Given the description of an element on the screen output the (x, y) to click on. 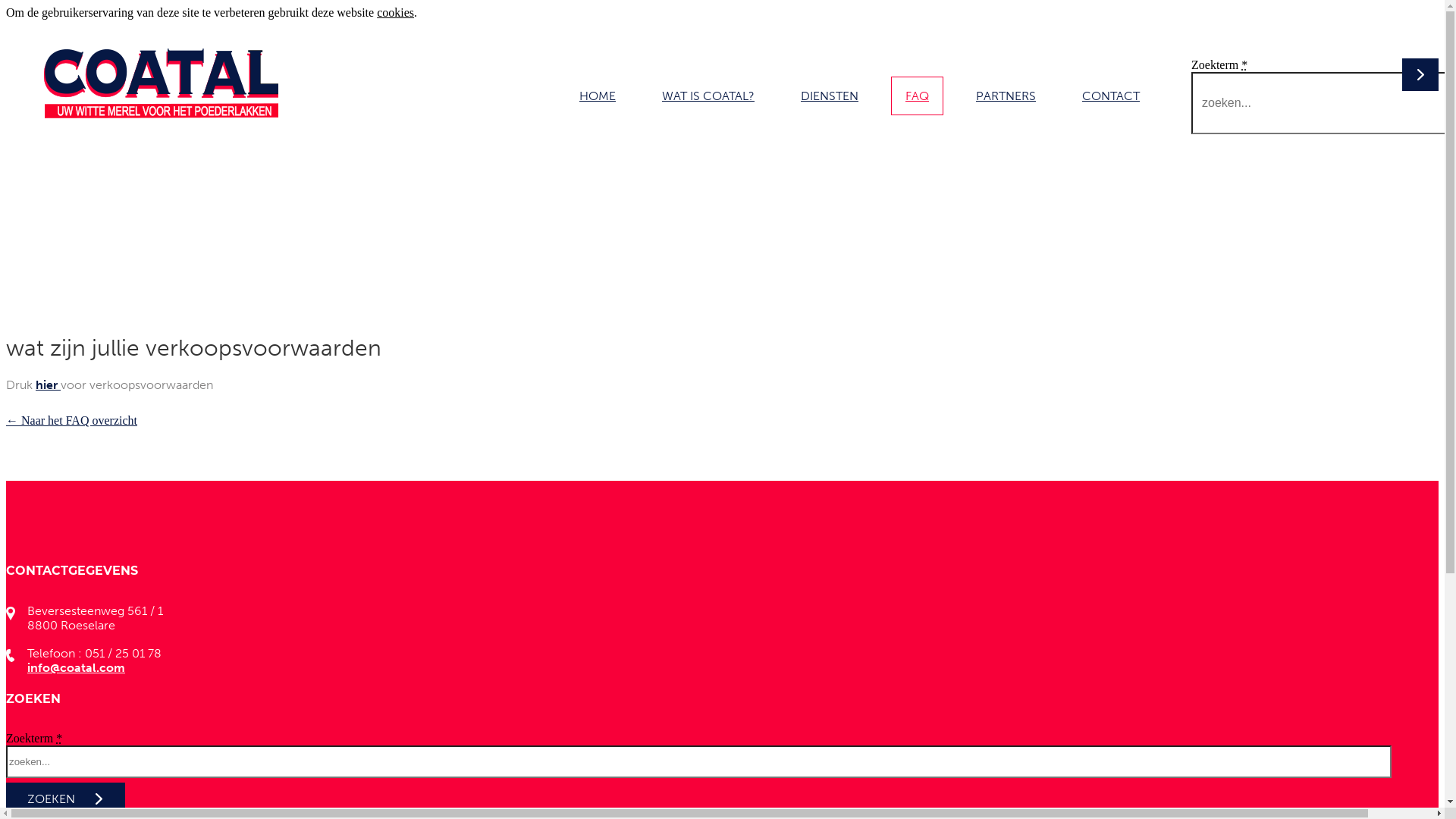
zoeken Element type: text (65, 798)
Logo Coatal - poederlak coating Element type: hover (160, 83)
CONTACT Element type: text (1110, 95)
HOME Element type: text (597, 95)
info@coatal.com Element type: text (76, 667)
Ik ga akkoord Element type: text (453, 12)
DIENSTEN Element type: text (829, 95)
cookies Element type: text (395, 12)
hier Element type: text (47, 384)
Ik ga niet akkoord Element type: text (534, 12)
PARTNERS Element type: text (1005, 95)
FAQ Element type: text (917, 95)
zoeken Element type: text (59, 16)
WAT IS COATAL? Element type: text (708, 95)
